Given the description of an element on the screen output the (x, y) to click on. 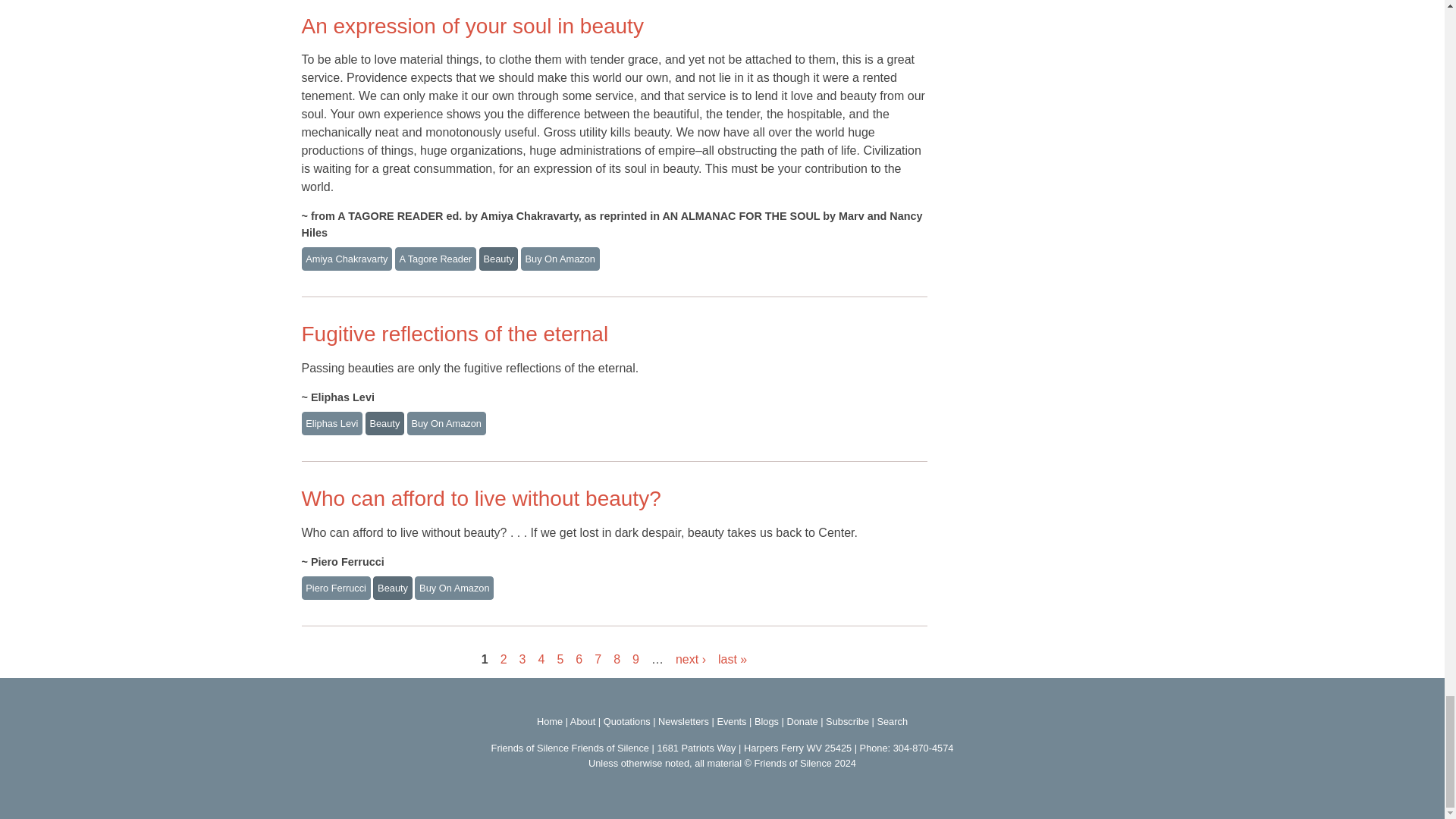
Go to last page (731, 658)
Go to page 5 (559, 658)
Go to page 2 (503, 658)
Go to page 8 (616, 658)
Go to next page (690, 658)
Go to page 4 (541, 658)
Go to page 7 (597, 658)
Go to page 6 (578, 658)
Go to page 9 (635, 658)
Go to page 3 (522, 658)
